Given the description of an element on the screen output the (x, y) to click on. 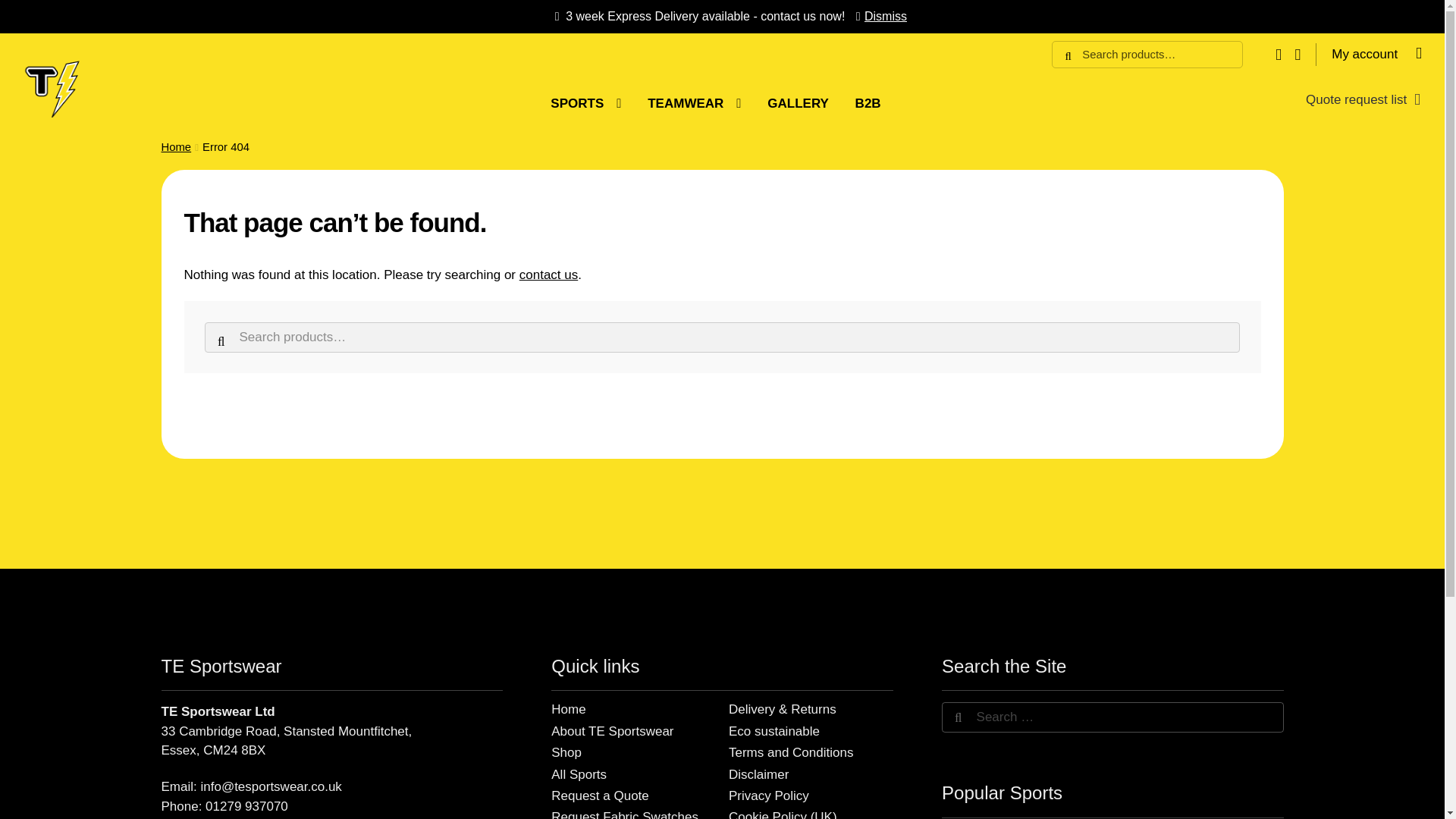
My account (1377, 53)
SPORTS (584, 103)
Quote request list (1363, 99)
Quote list (1363, 99)
My account   (1377, 53)
Dismiss (877, 16)
